Given the description of an element on the screen output the (x, y) to click on. 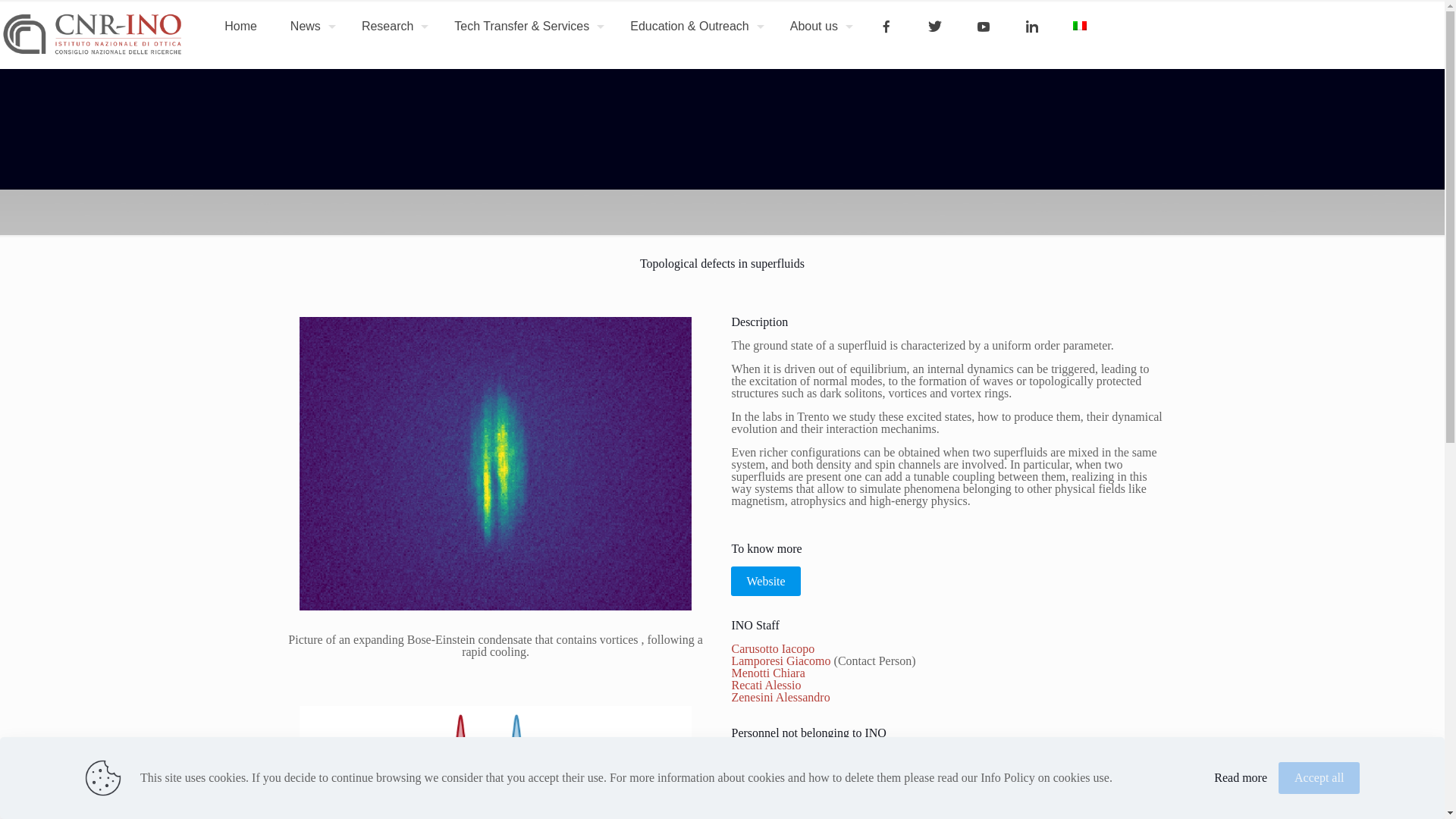
News (309, 26)
Home (240, 26)
Research (390, 26)
